Given the description of an element on the screen output the (x, y) to click on. 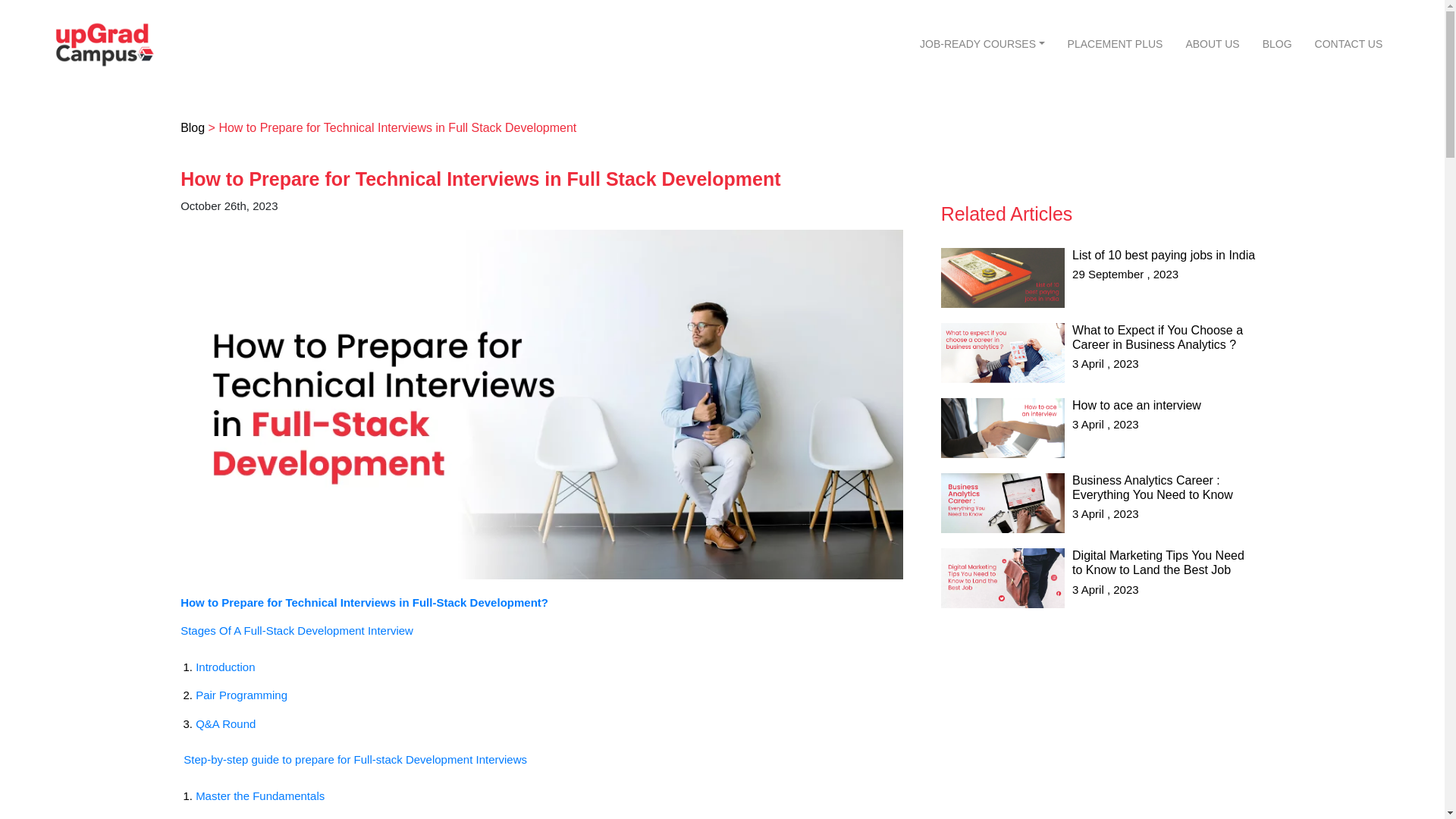
Stages Of A Full-Stack Development Interview  (298, 630)
Blog (192, 127)
Introduction  (227, 666)
BLOG (1276, 44)
JOB-READY COURSES (982, 44)
PLACEMENT PLUS (1115, 44)
Pair Programming (240, 694)
ABOUT US (1211, 44)
